Given the description of an element on the screen output the (x, y) to click on. 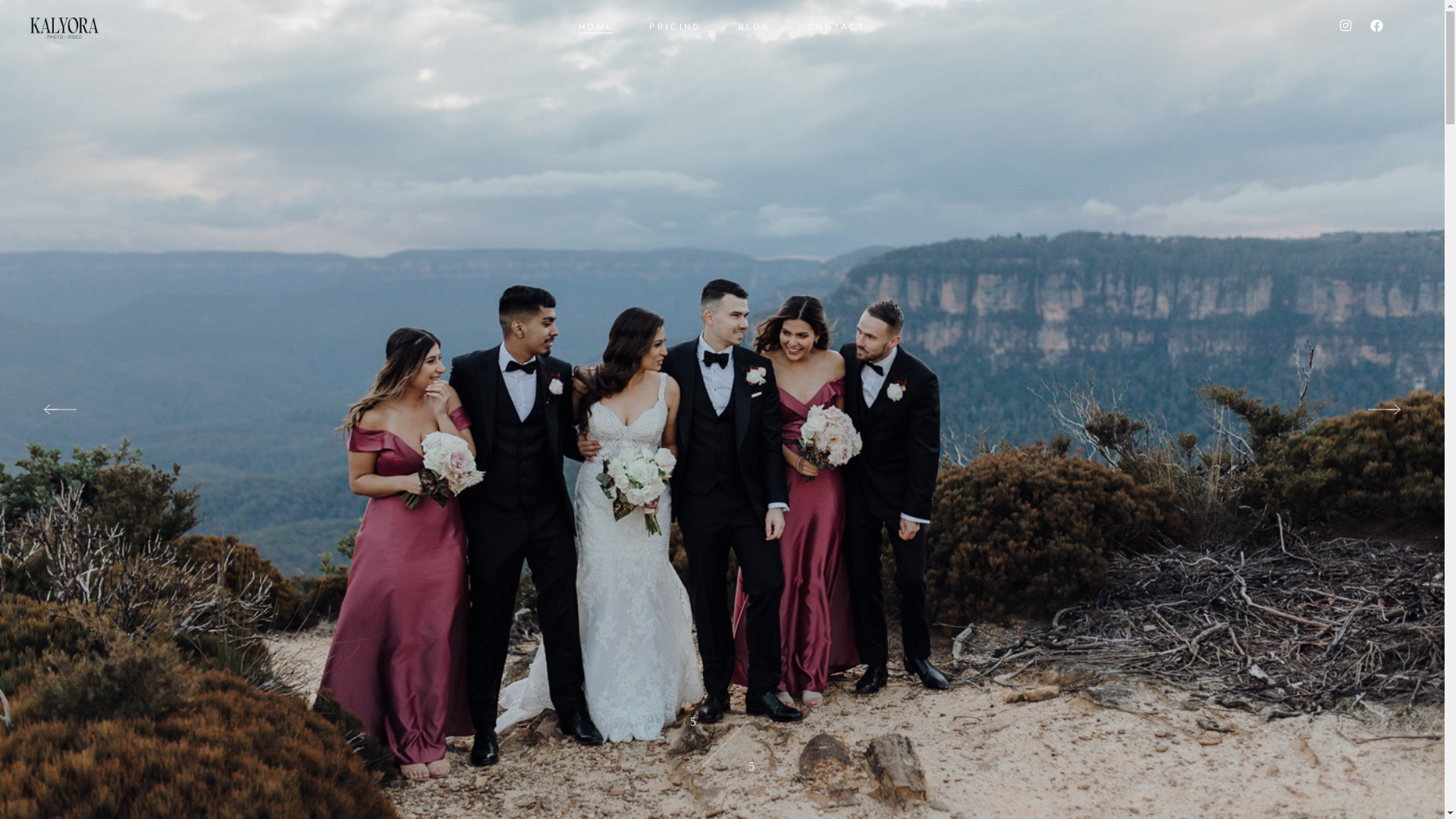
CONTACT Element type: text (836, 27)
PRICING Element type: text (674, 27)
HOME Element type: text (595, 27)
BLOG Element type: text (753, 27)
